Given the description of an element on the screen output the (x, y) to click on. 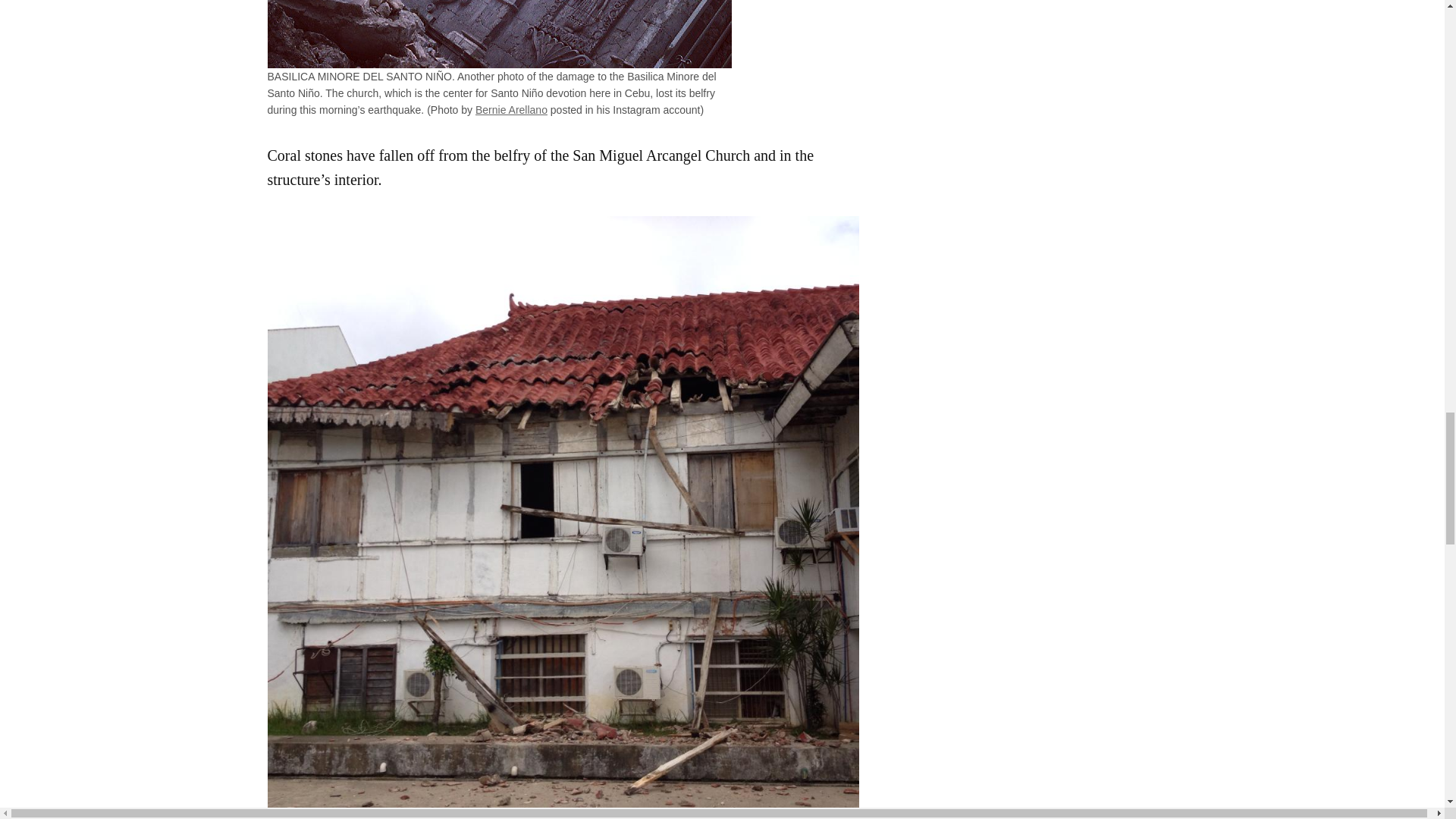
Bernie Arellano (511, 110)
